Given the description of an element on the screen output the (x, y) to click on. 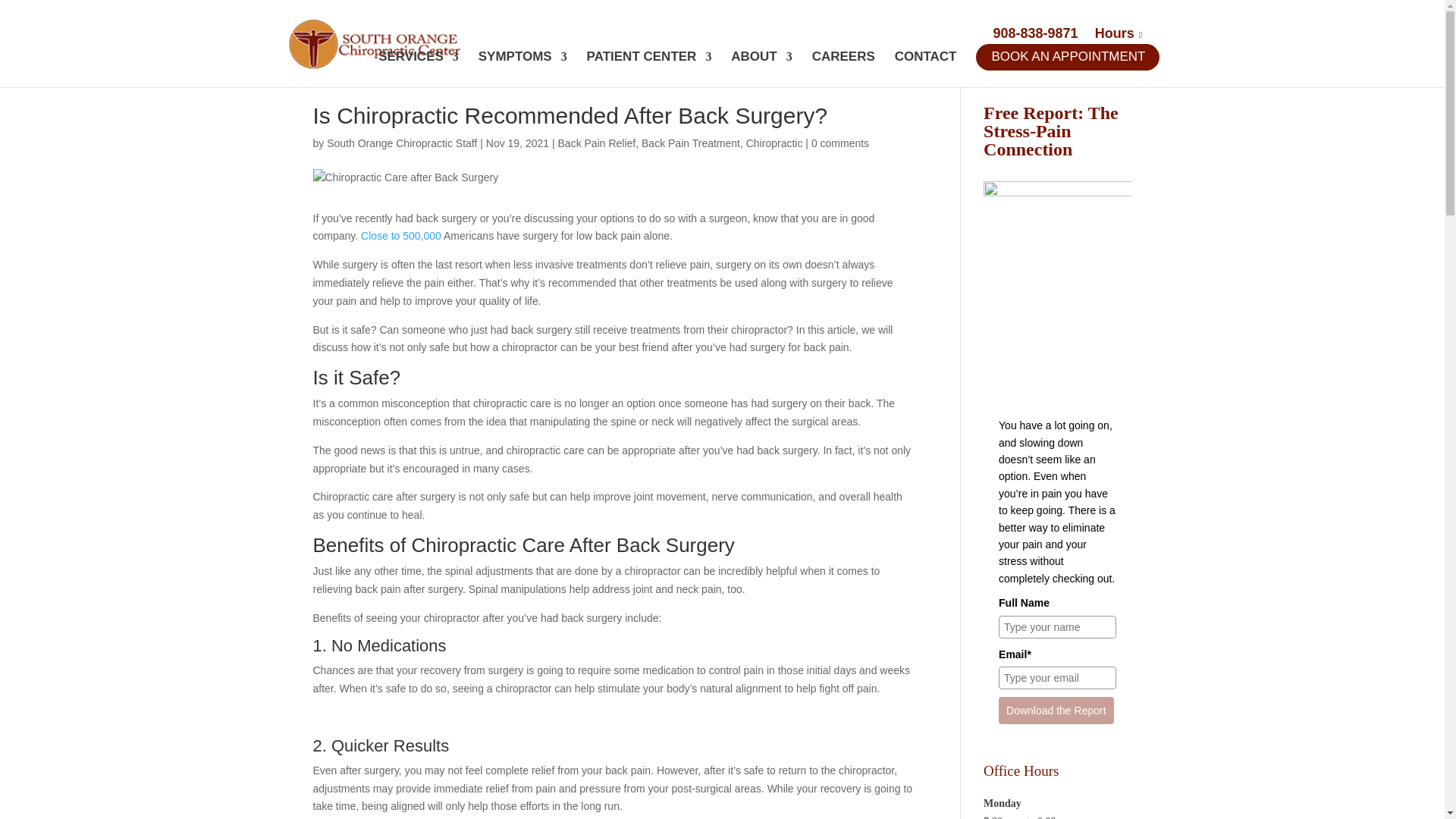
SYMPTOMS (523, 68)
CAREERS (843, 68)
CONTACT (925, 68)
Posts by South Orange Chiropractic Staff (401, 143)
BOOK AN APPOINTMENT (1071, 68)
SERVICES (418, 68)
PATIENT CENTER (648, 68)
ABOUT (761, 68)
